Given the description of an element on the screen output the (x, y) to click on. 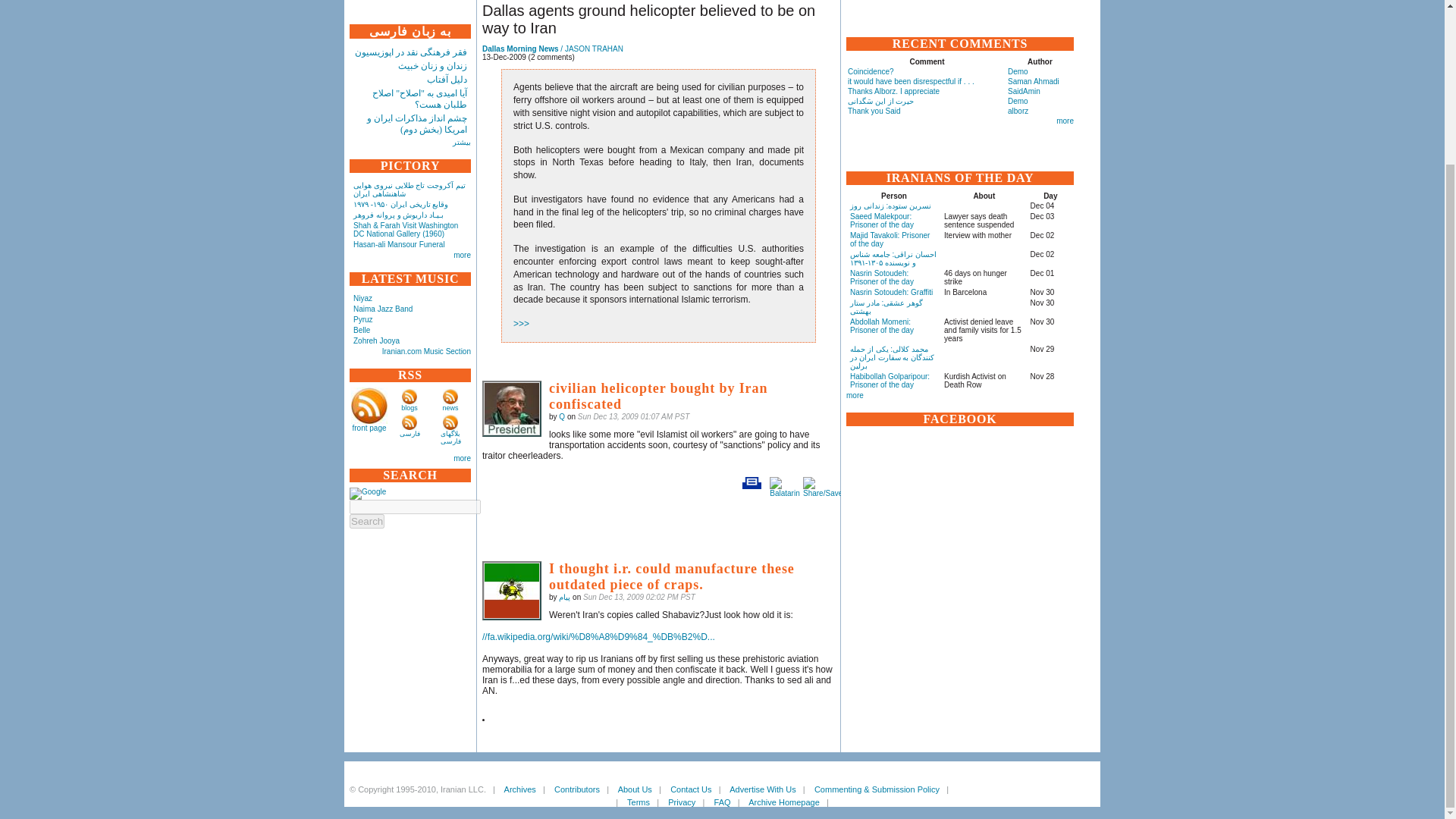
more (461, 254)
Naima Jazz Band (382, 308)
Niyaz (362, 298)
blogs (409, 407)
news (450, 407)
Q (511, 408)
front page (368, 428)
Iranian.com Music Section (425, 351)
Search (366, 521)
Google (367, 493)
